Given the description of an element on the screen output the (x, y) to click on. 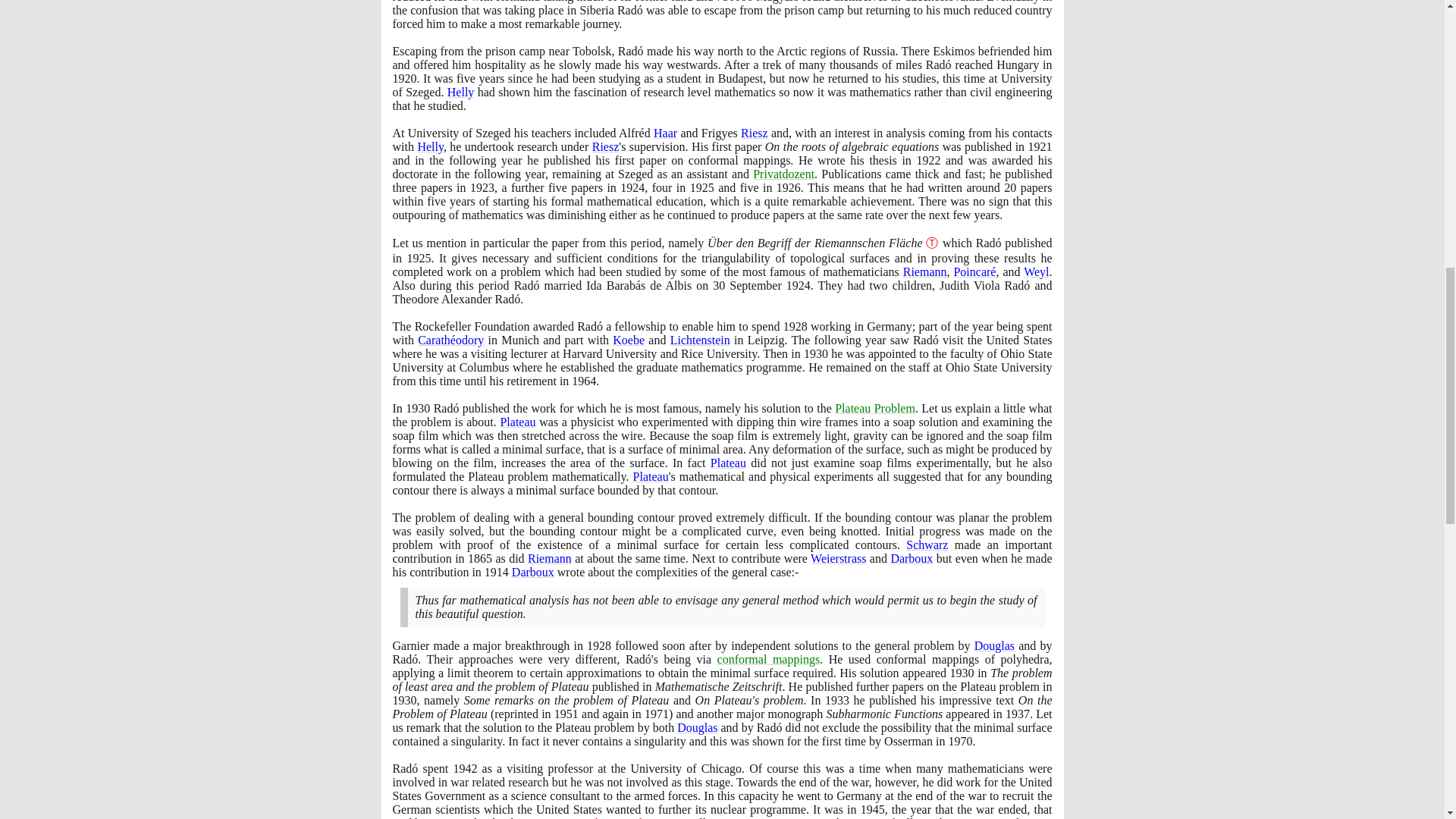
Plateau (517, 421)
Douglas (994, 645)
Riemann (924, 271)
Darboux (533, 571)
Schwarz (926, 544)
Riesz (754, 132)
Plateau (650, 476)
Privatdozent (782, 173)
Helly (460, 91)
Weierstrass (838, 558)
